Given the description of an element on the screen output the (x, y) to click on. 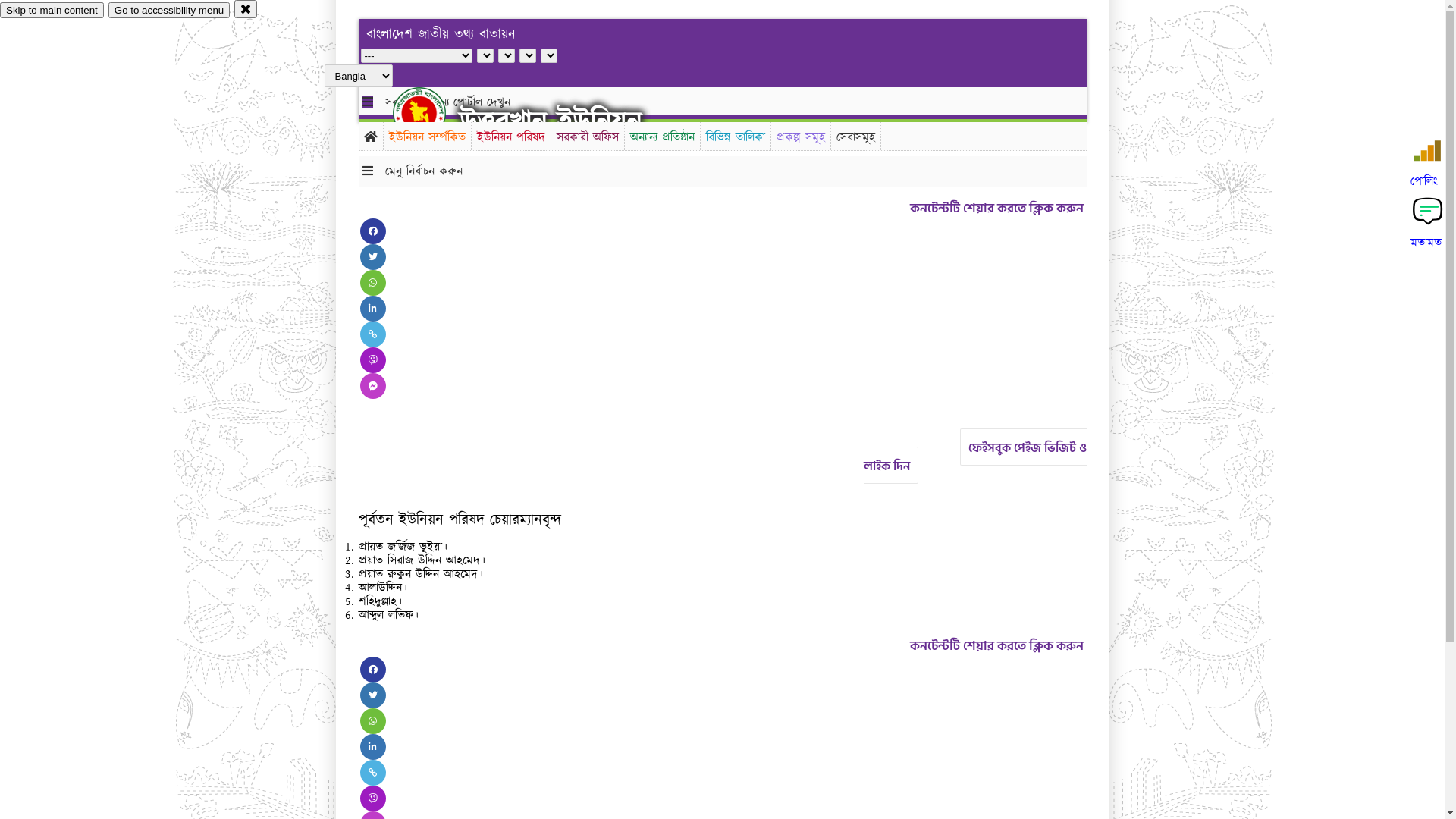
Skip to main content Element type: text (51, 10)
Go to accessibility menu Element type: text (168, 10)
close Element type: hover (245, 9)

                
             Element type: hover (431, 112)
